Given the description of an element on the screen output the (x, y) to click on. 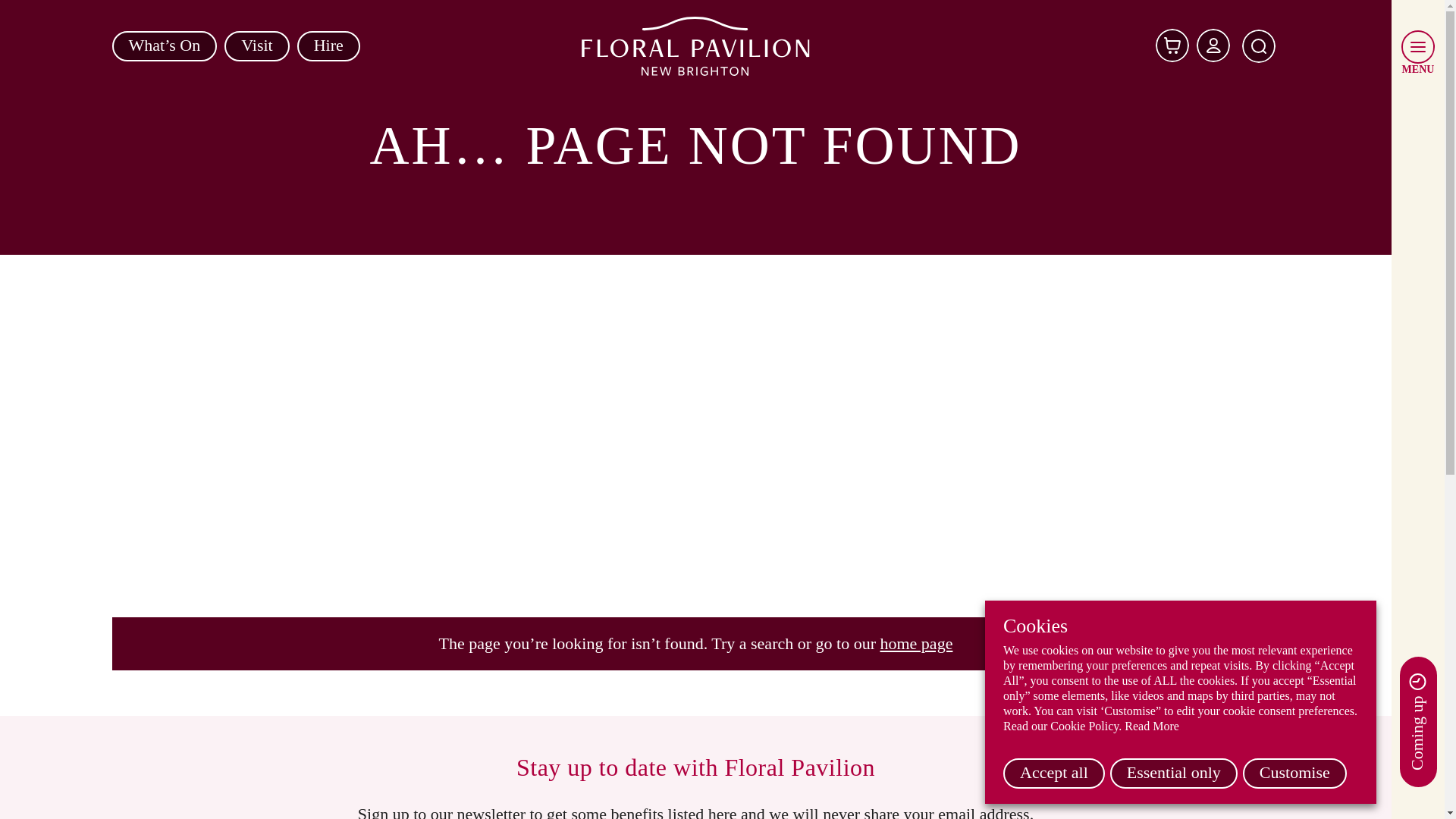
Open search menu (1258, 45)
Visit (256, 46)
Hire (328, 46)
